Given the description of an element on the screen output the (x, y) to click on. 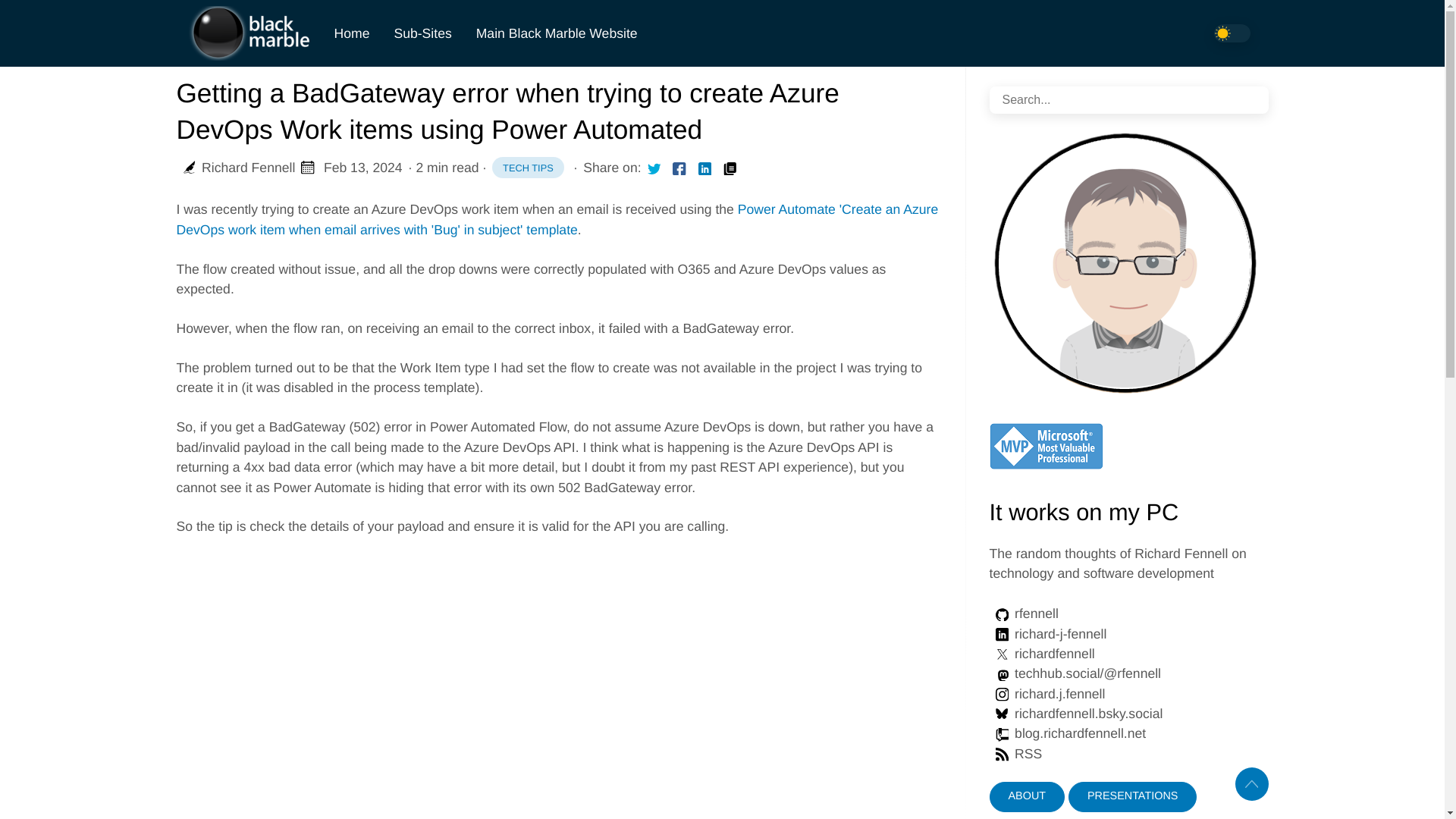
about (1026, 797)
presentations (1132, 797)
RSS (1000, 753)
github (1000, 614)
twitter (1015, 753)
Tech Tips (654, 167)
TECH TIPS (527, 167)
mastodon (527, 167)
on (1046, 693)
Black Marble (1000, 674)
Share on Twitter (1230, 33)
Share on LinkedIn (1074, 713)
